Given the description of an element on the screen output the (x, y) to click on. 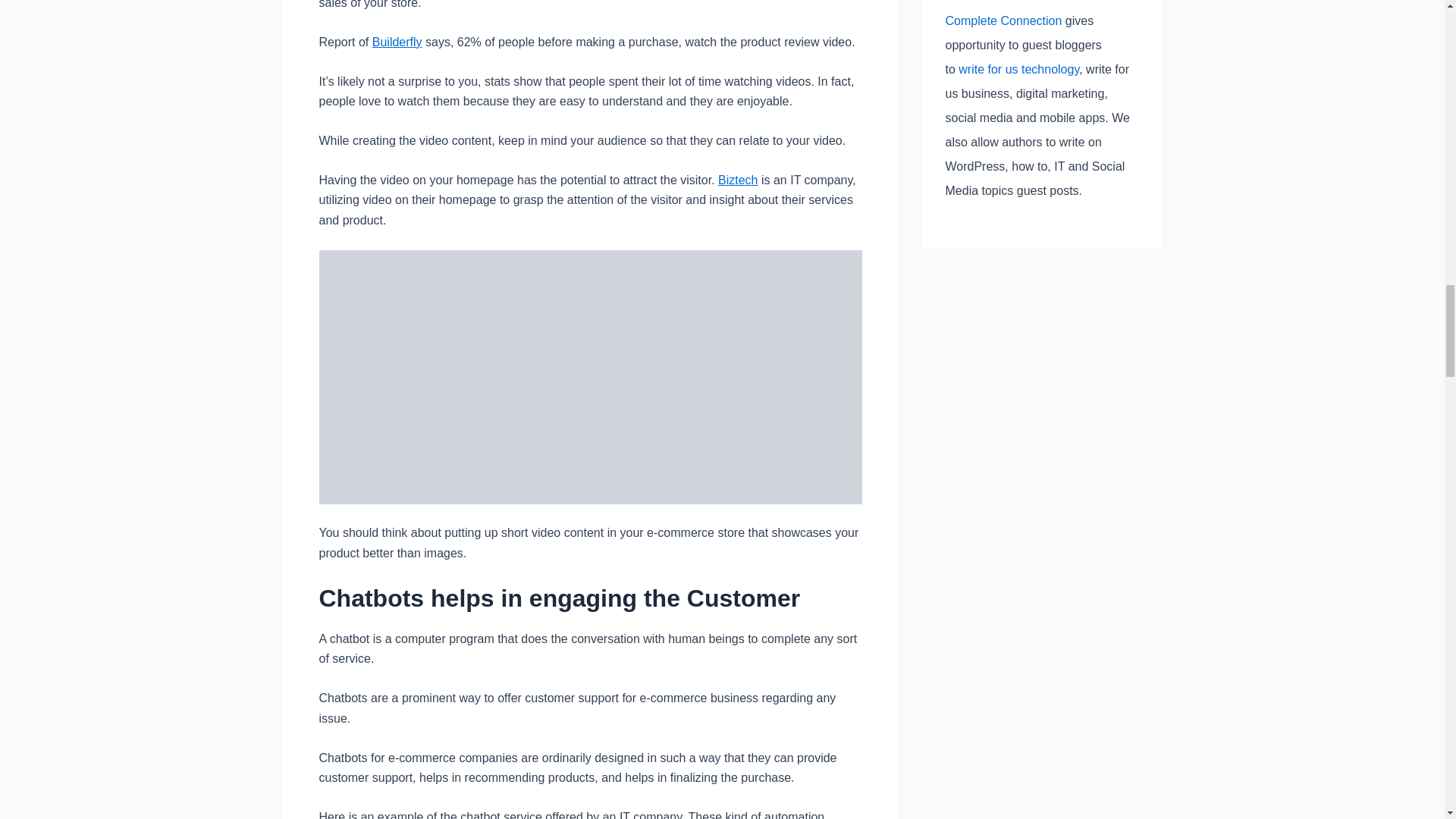
Biztech (737, 179)
Builderfly (397, 42)
